Given the description of an element on the screen output the (x, y) to click on. 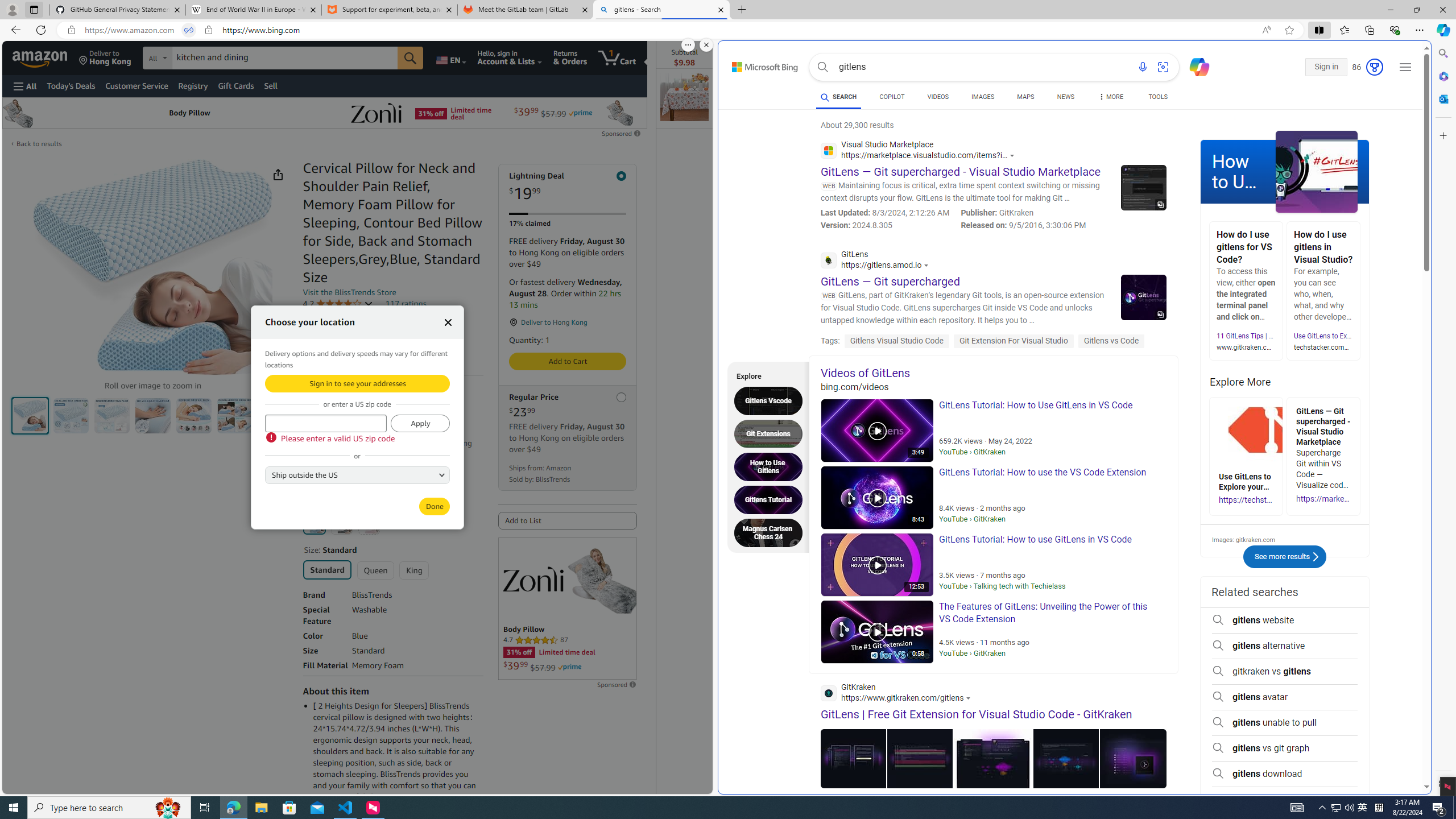
11 GitLens Tips | Learn How to Use GitLens in VS Code - (1301, 335)
Search more (1400, 753)
Version: 2024.8.305 (885, 225)
Use GitLens to Explore your Git History in VS Code (1369, 335)
Released on: 9/5/2016, 3:30:06 PM (1023, 225)
Dropdown Menu (1110, 96)
Visual Studio Marketplace (920, 151)
Close split screen. (705, 45)
View details (1132, 757)
AutomationID: GLUXCountryList (356, 474)
Share (277, 174)
Search using voice (1142, 66)
